Given the description of an element on the screen output the (x, y) to click on. 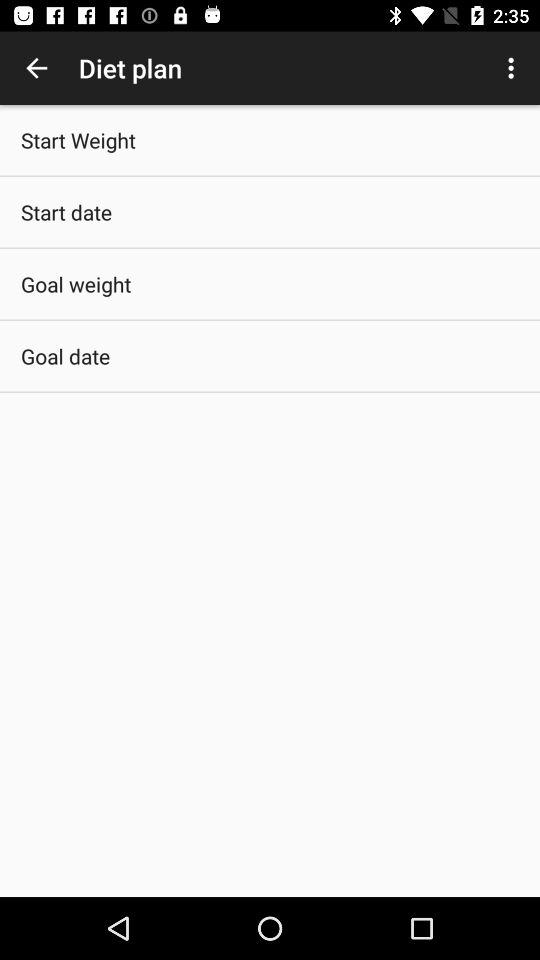
open app above goal weight (66, 211)
